Given the description of an element on the screen output the (x, y) to click on. 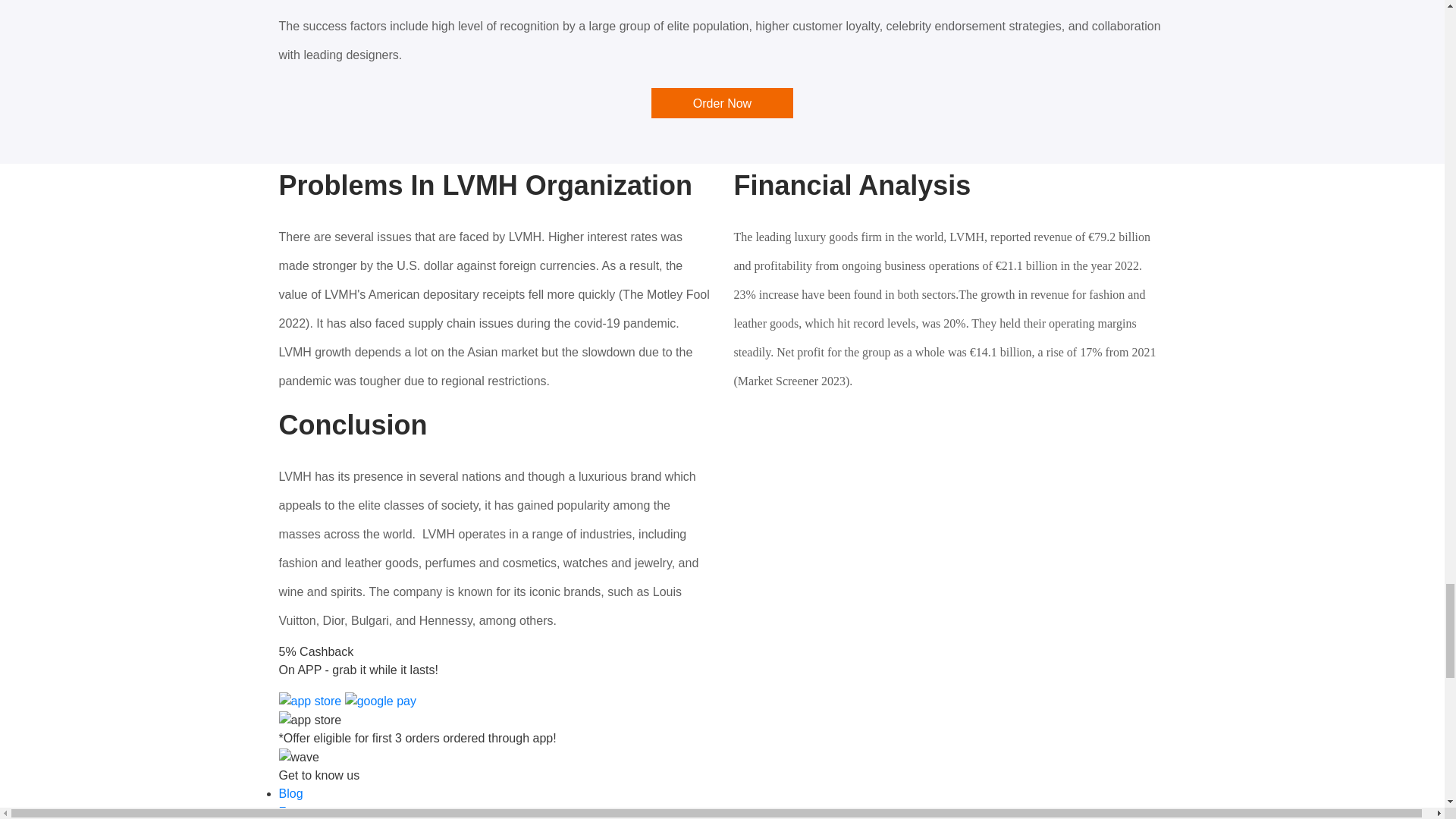
google-pay (380, 701)
app-store (310, 701)
pataka (298, 757)
qrcode (310, 720)
